Given the description of an element on the screen output the (x, y) to click on. 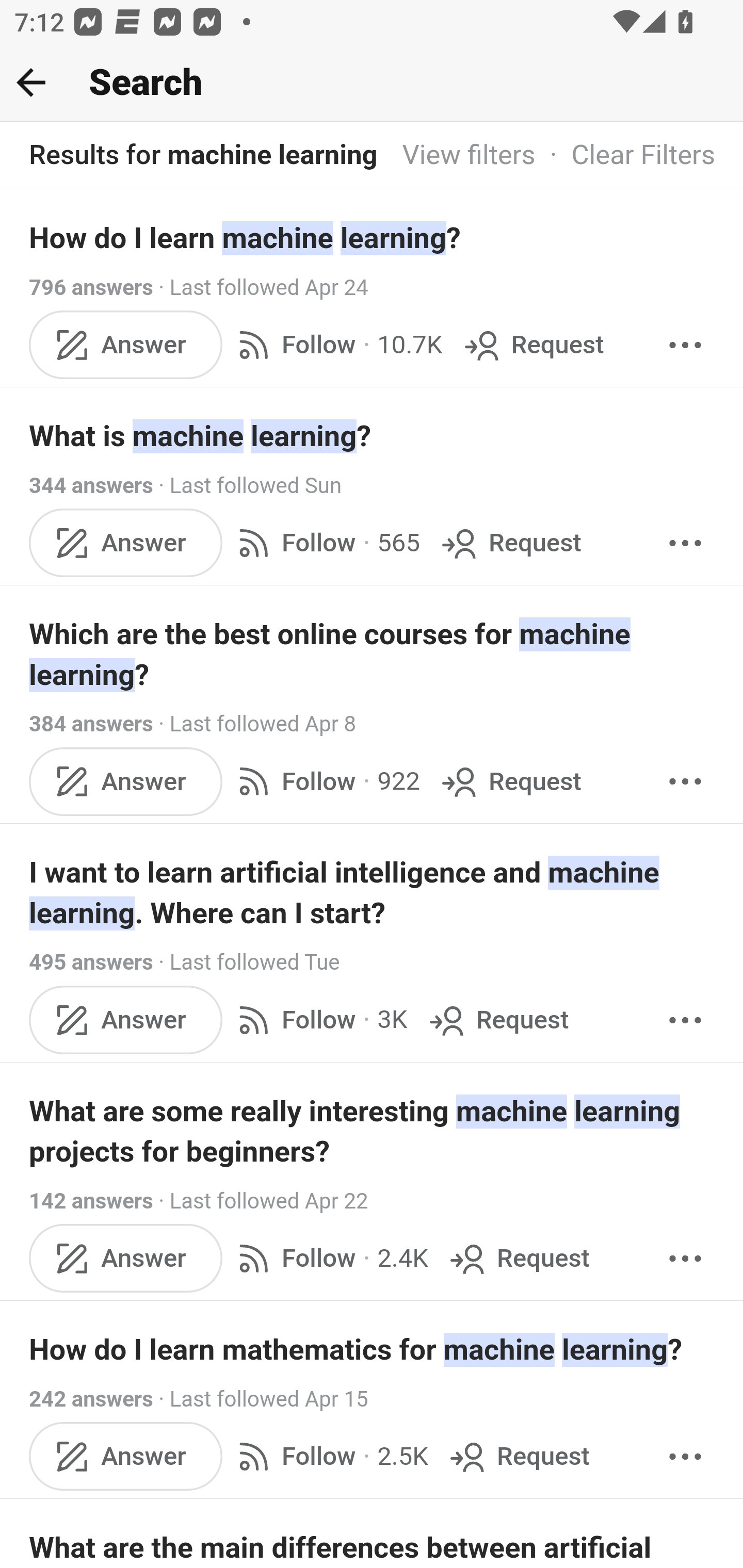
Back Search (371, 82)
Back (30, 82)
View filters (468, 155)
· Clear Filters · Clear Filters (625, 155)
How do I learn machine learning? (372, 237)
796 answers 796  answers (90, 287)
Answer (125, 343)
Follow · 10.7K (336, 343)
Request (532, 343)
More (684, 343)
What is machine learning? (372, 436)
344 answers 344  answers (90, 484)
Answer (125, 543)
Follow · 565 (324, 543)
Request (509, 543)
More (684, 543)
384 answers 384  answers (90, 723)
Answer (125, 781)
Follow · 922 (324, 781)
Request (509, 781)
More (684, 781)
495 answers 495  answers (90, 962)
Answer (125, 1019)
Follow · 3K (318, 1019)
Request (496, 1019)
More (684, 1019)
142 answers 142  answers (90, 1200)
Answer (125, 1258)
Follow · 2.4K (329, 1258)
Request (517, 1258)
More (684, 1258)
How do I learn mathematics for machine learning? (372, 1349)
242 answers 242  answers (90, 1399)
Answer (125, 1456)
Follow · 2.5K (329, 1456)
Request (517, 1456)
More (684, 1456)
